Given the description of an element on the screen output the (x, y) to click on. 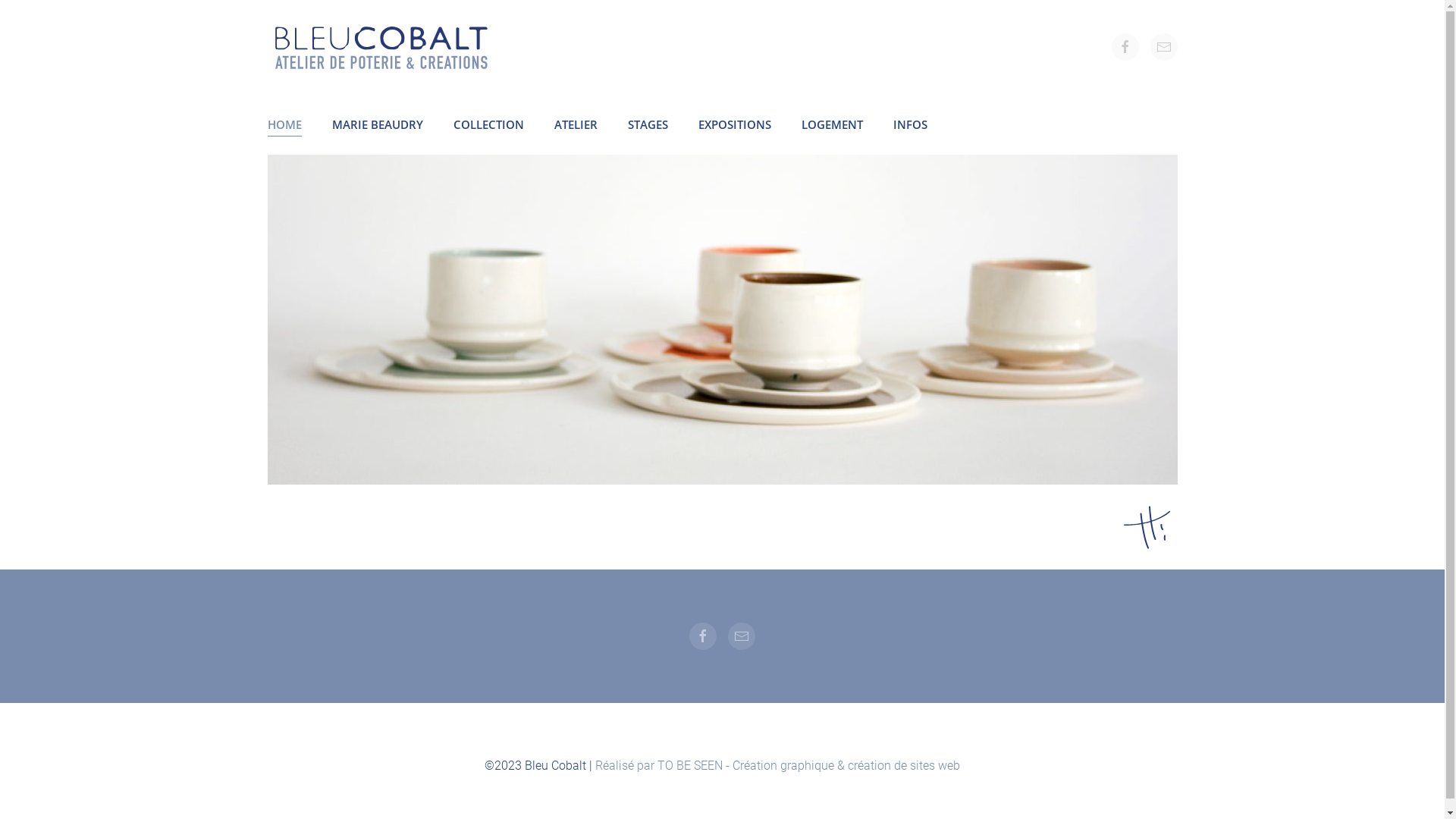
STAGES Element type: text (647, 124)
INFOS Element type: text (910, 124)
HOME Element type: text (283, 124)
COLLECTION Element type: text (488, 124)
MARIE BEAUDRY Element type: text (377, 124)
LOGEMENT Element type: text (831, 124)
ATELIER Element type: text (574, 124)
EXPOSITIONS Element type: text (733, 124)
